Given the description of an element on the screen output the (x, y) to click on. 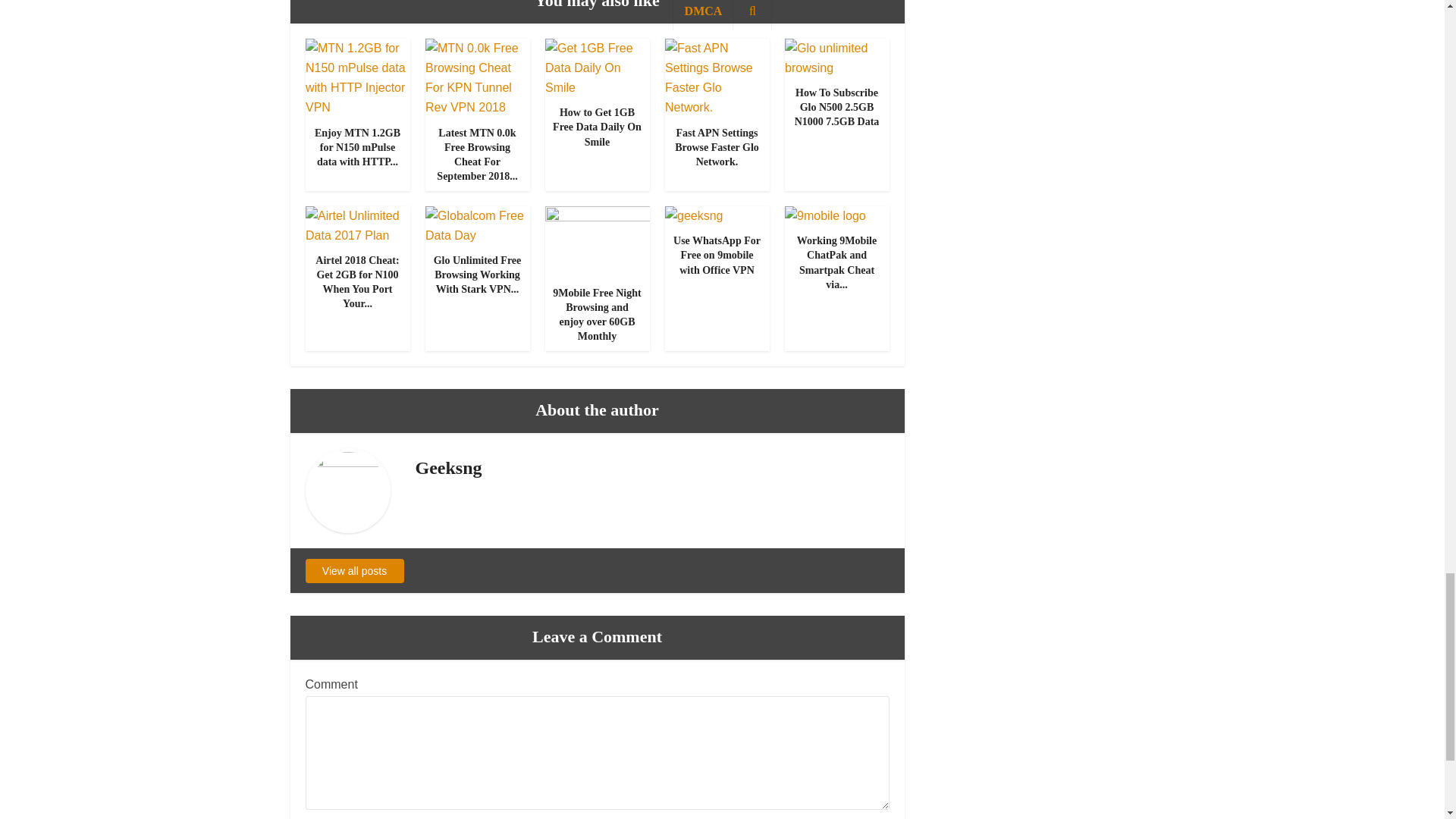
How to Get 1GB Free Data Daily On Smile (596, 67)
Airtel 2018 Cheat: Get 2GB for N100 When You Port Your SIM (356, 224)
Enjoy MTN 1.2GB for N150 mPulse data with HTTP Injector VPN (356, 77)
Fast APN Settings Browse Faster Glo Network. (716, 147)
Airtel 2018 Cheat: Get 2GB for N100 When You Port Your SIM (356, 281)
How to Get 1GB Free Data Daily On Smile (597, 127)
9Mobile Free Night Browsing and enjoy over 60GB Monthly (596, 240)
9Mobile Free Night Browsing and enjoy over 60GB Monthly (596, 314)
How To Subscribe Glo N500 2.5GB N1000 7.5GB Data (836, 106)
